Given the description of an element on the screen output the (x, y) to click on. 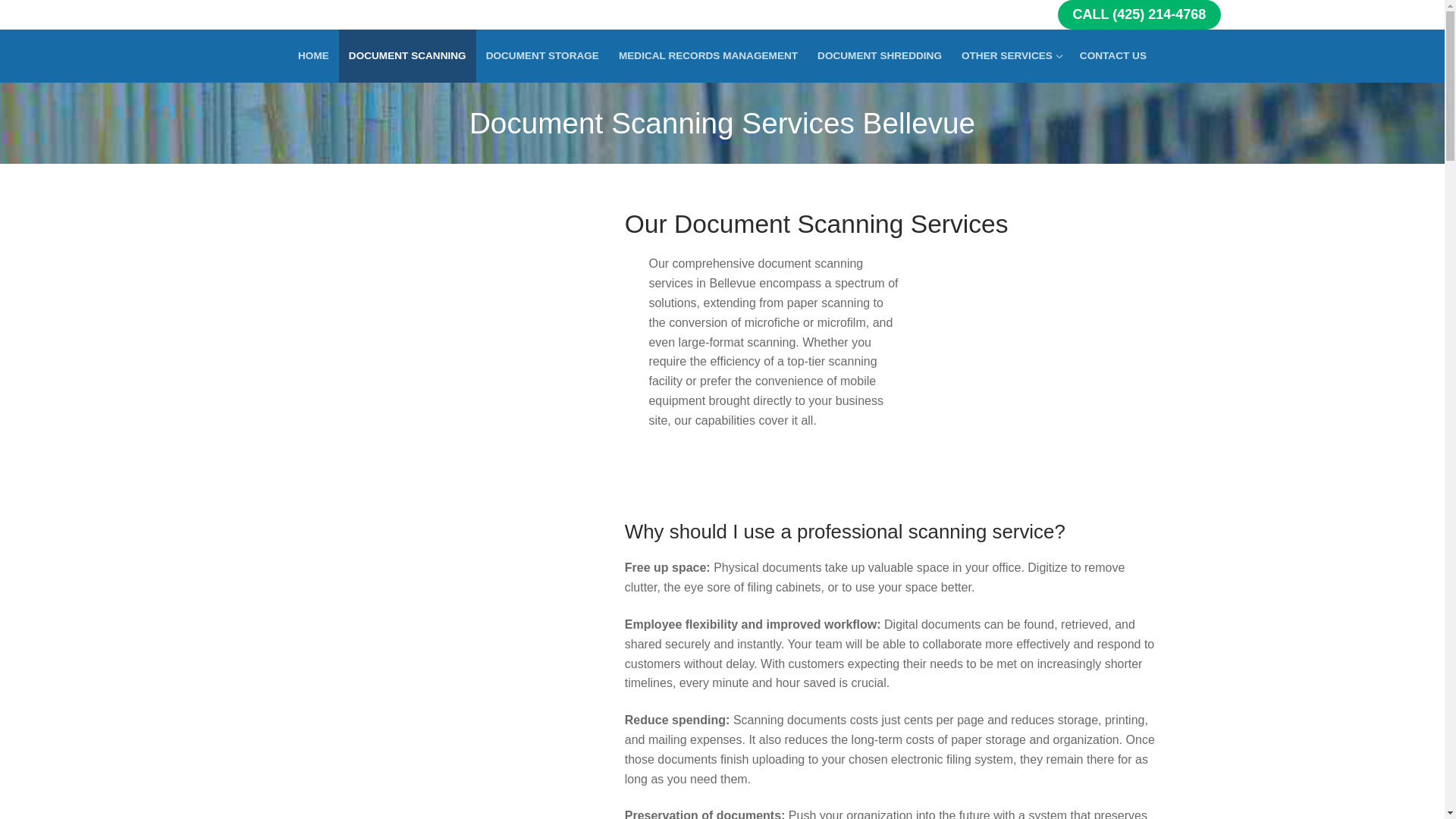
HOME (313, 55)
DOCUMENT STORAGE (542, 55)
MEDICAL RECORDS MANAGEMENT (708, 55)
DOCUMENT SHREDDING (880, 55)
DOCUMENT SCANNING (407, 55)
CONTACT US (1011, 55)
